Given the description of an element on the screen output the (x, y) to click on. 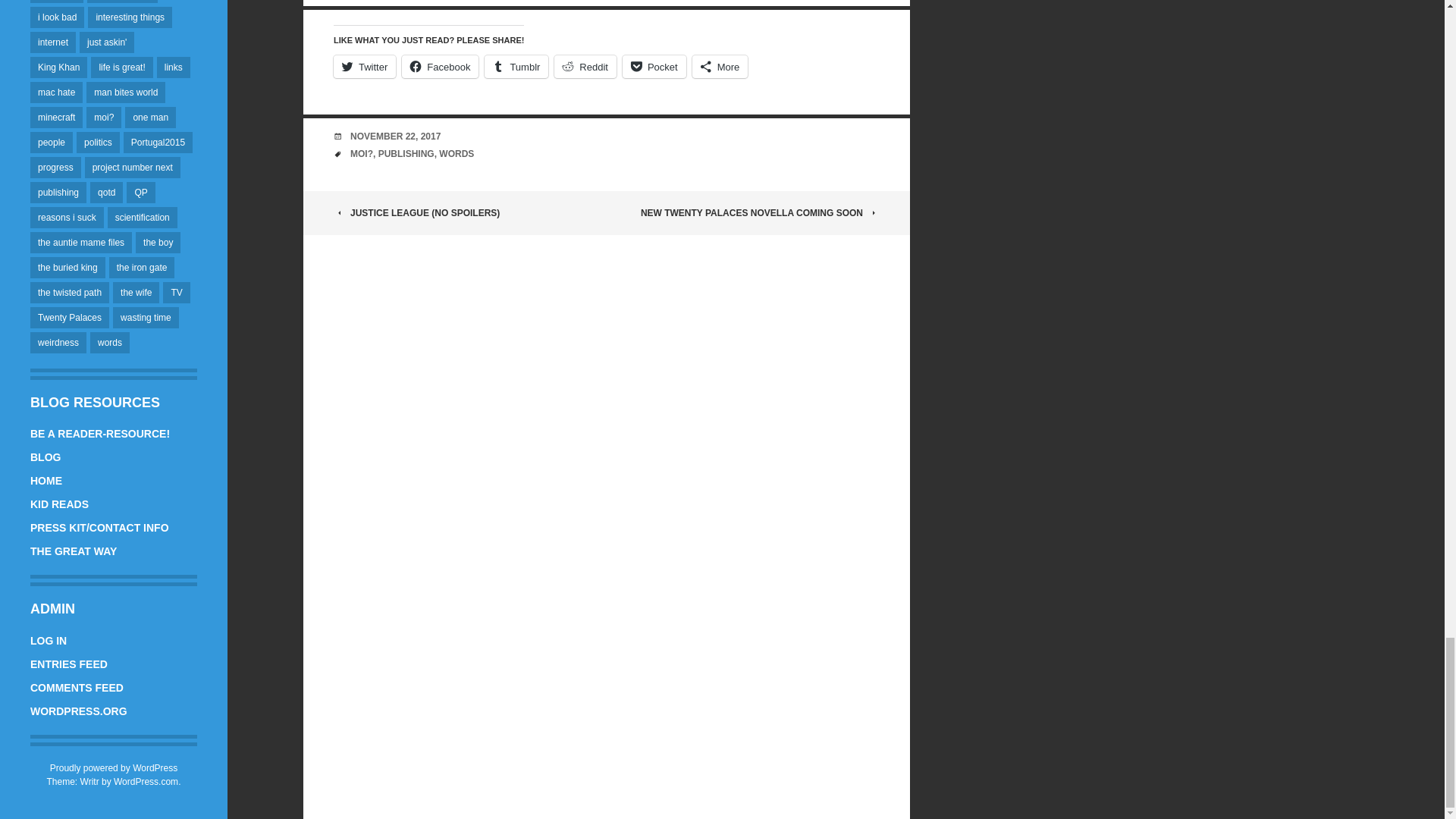
Click to share on Twitter (364, 66)
A Semantic Personal Publishing Platform (113, 767)
